Given the description of an element on the screen output the (x, y) to click on. 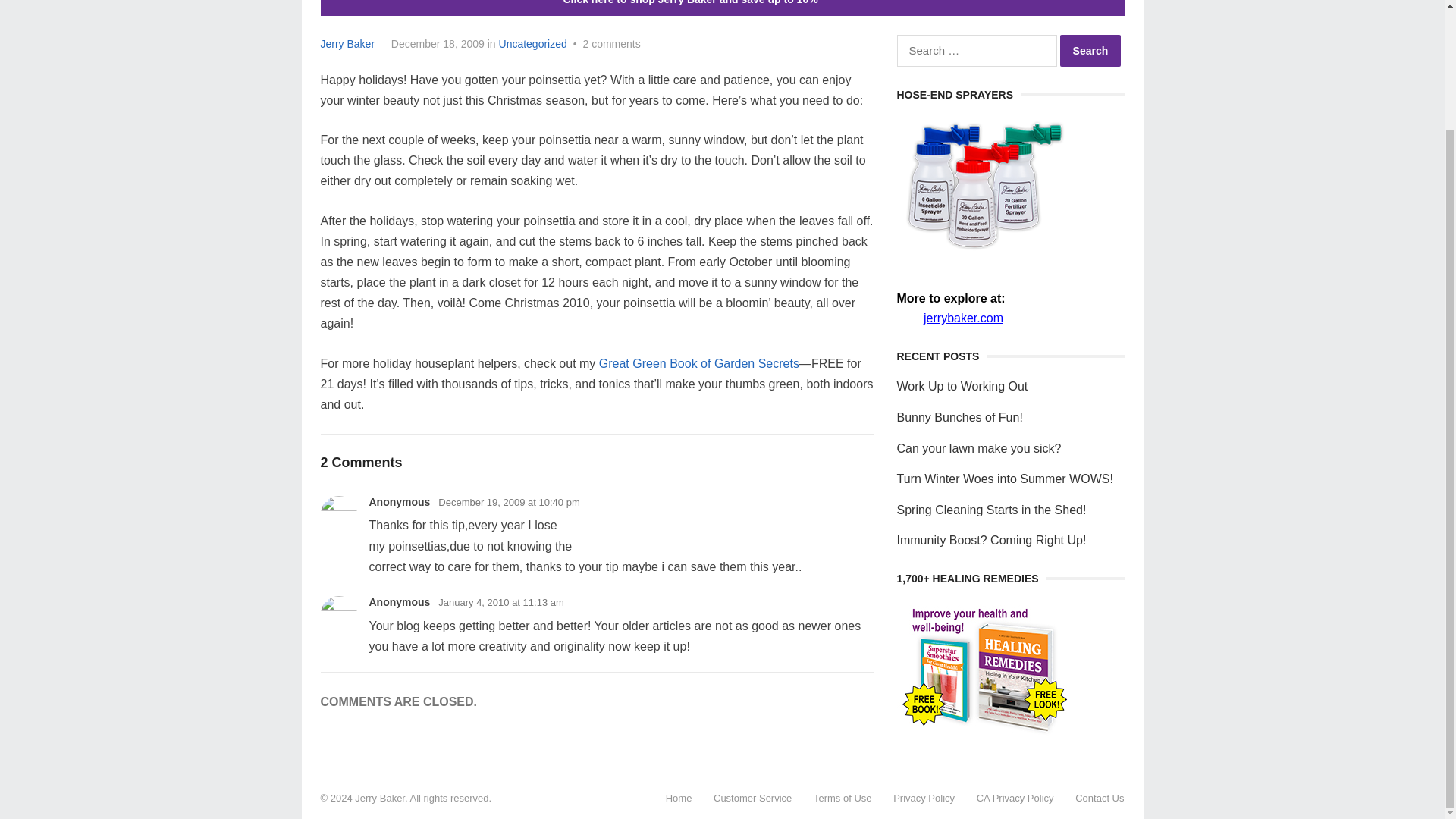
2 comments (611, 43)
Jerry Baker (347, 43)
Search (1090, 50)
Search (1090, 50)
Posts by Jerry Baker (347, 43)
View all posts in Uncategorized (533, 43)
Great Green Book of Garden Secrets (698, 363)
Uncategorized (533, 43)
